Given the description of an element on the screen output the (x, y) to click on. 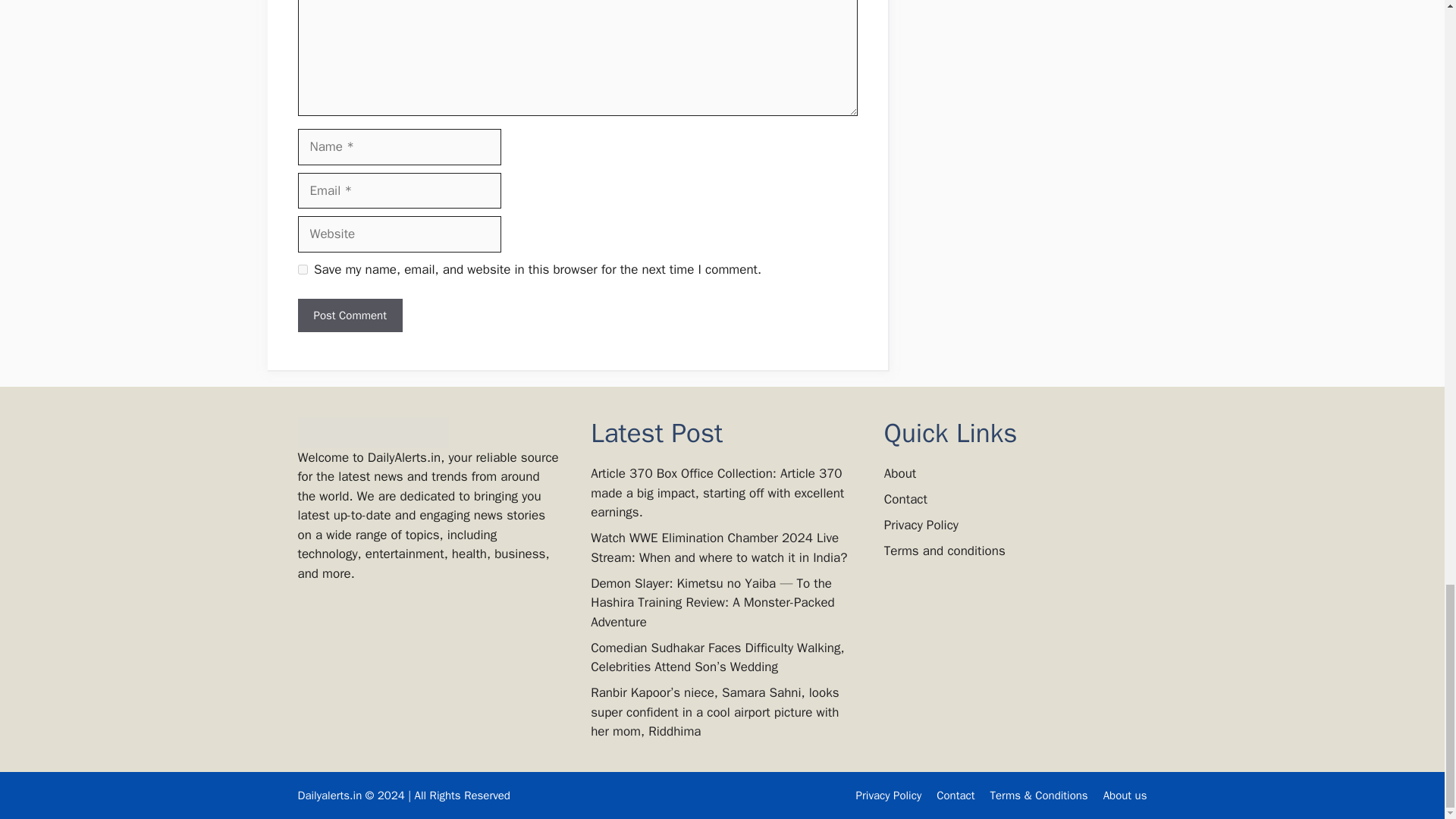
Post Comment (349, 315)
About (899, 473)
dailyalertlogo (372, 431)
yes (302, 269)
Post Comment (349, 315)
